Given the description of an element on the screen output the (x, y) to click on. 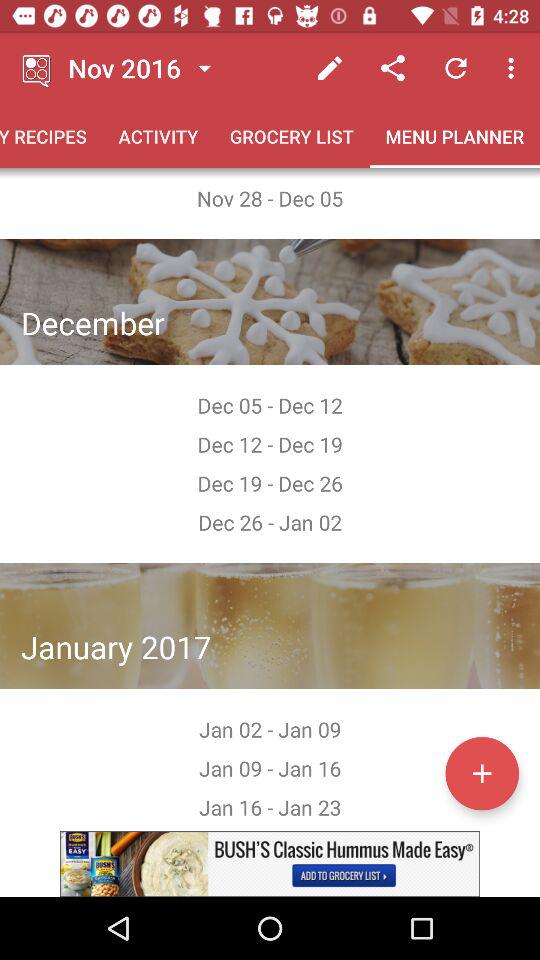
add page (482, 773)
